Given the description of an element on the screen output the (x, y) to click on. 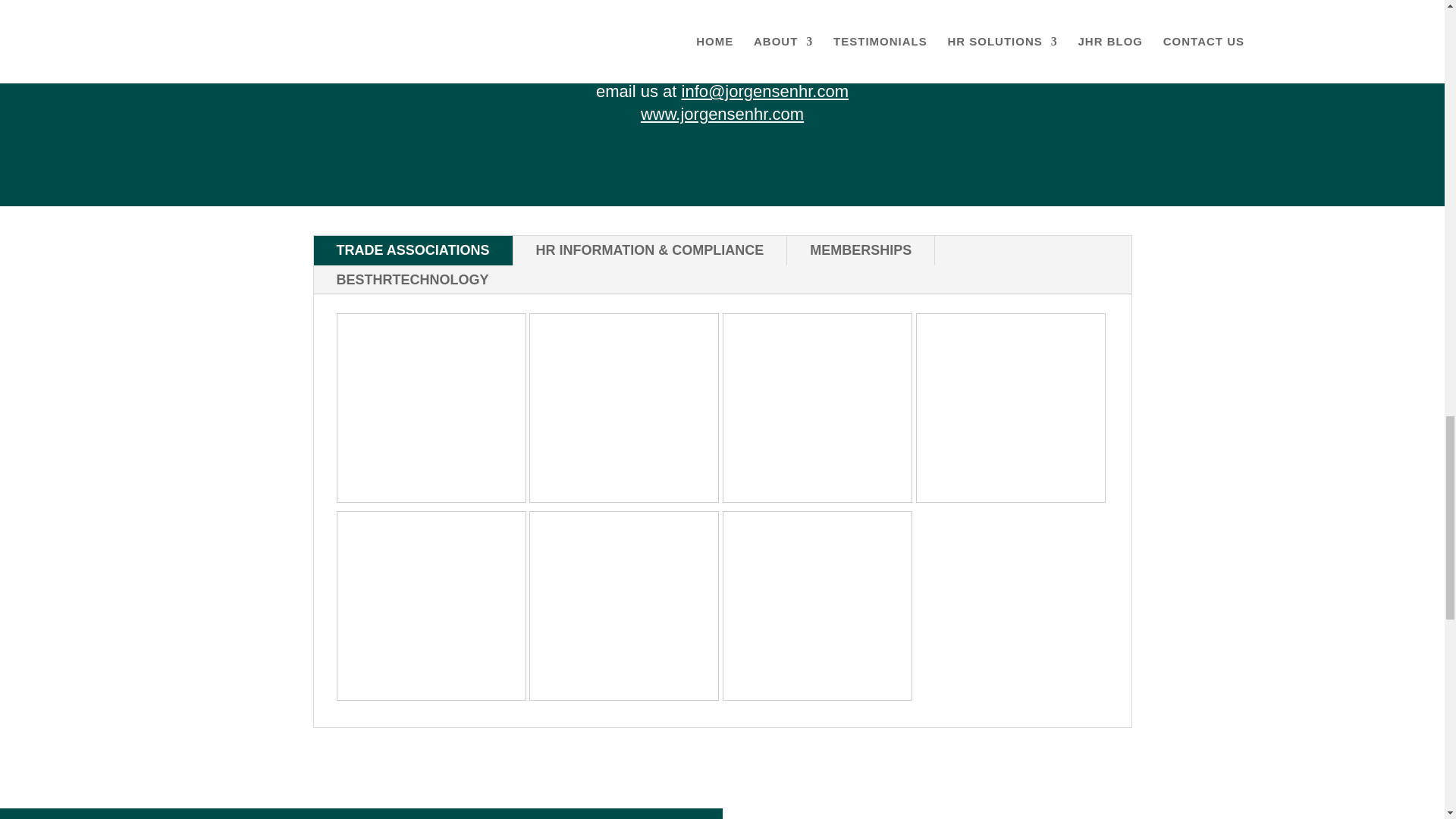
TRADE ASSOCIATIONS (413, 250)
www.jorgensenhr.com (721, 113)
MEMBERSHIPS (860, 250)
